Given the description of an element on the screen output the (x, y) to click on. 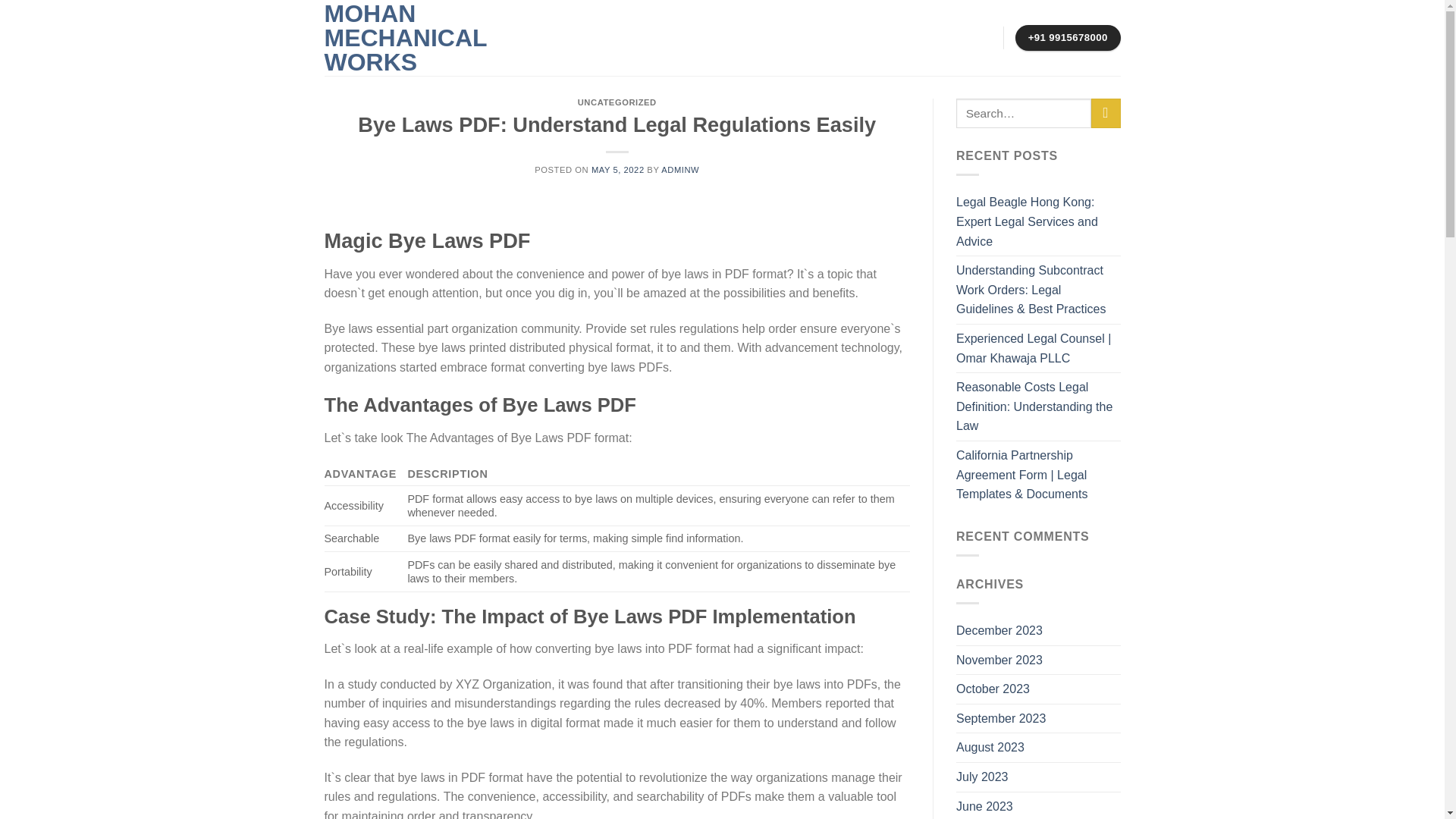
October 2023 (992, 688)
August 2023 (990, 747)
MOHAN MECHANICAL WORKS (405, 37)
June 2023 (984, 805)
November 2023 (999, 660)
Reasonable Costs Legal Definition: Understanding the Law (1038, 406)
December 2023 (999, 630)
MAY 5, 2022 (618, 169)
ADMINW (679, 169)
